Given the description of an element on the screen output the (x, y) to click on. 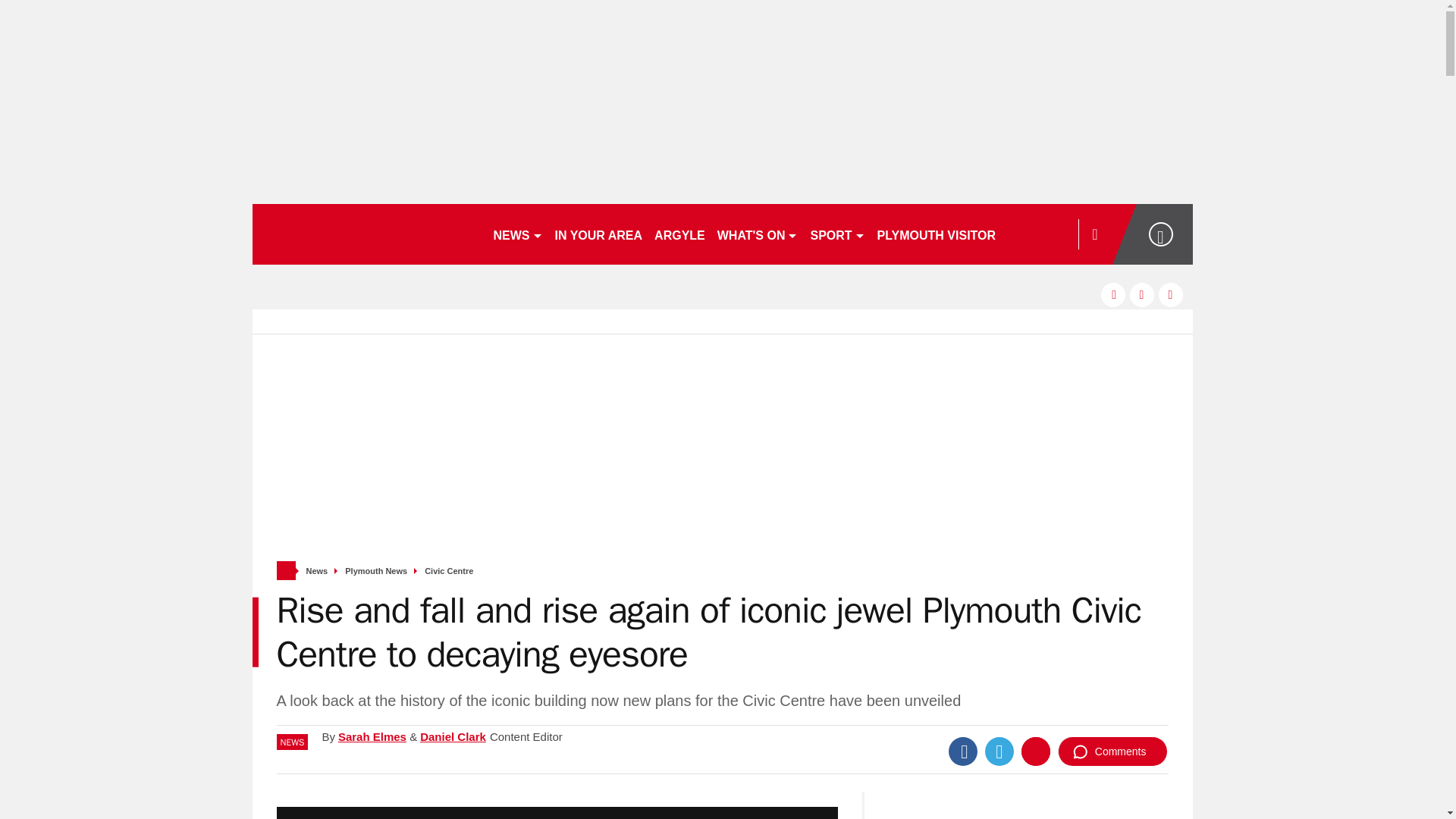
Facebook (962, 751)
instagram (1170, 294)
NEWS (517, 233)
Twitter (999, 751)
IN YOUR AREA (598, 233)
ARGYLE (679, 233)
WHAT'S ON (758, 233)
facebook (1112, 294)
PLYMOUTH VISITOR GUIDE (956, 233)
twitter (1141, 294)
